Given the description of an element on the screen output the (x, y) to click on. 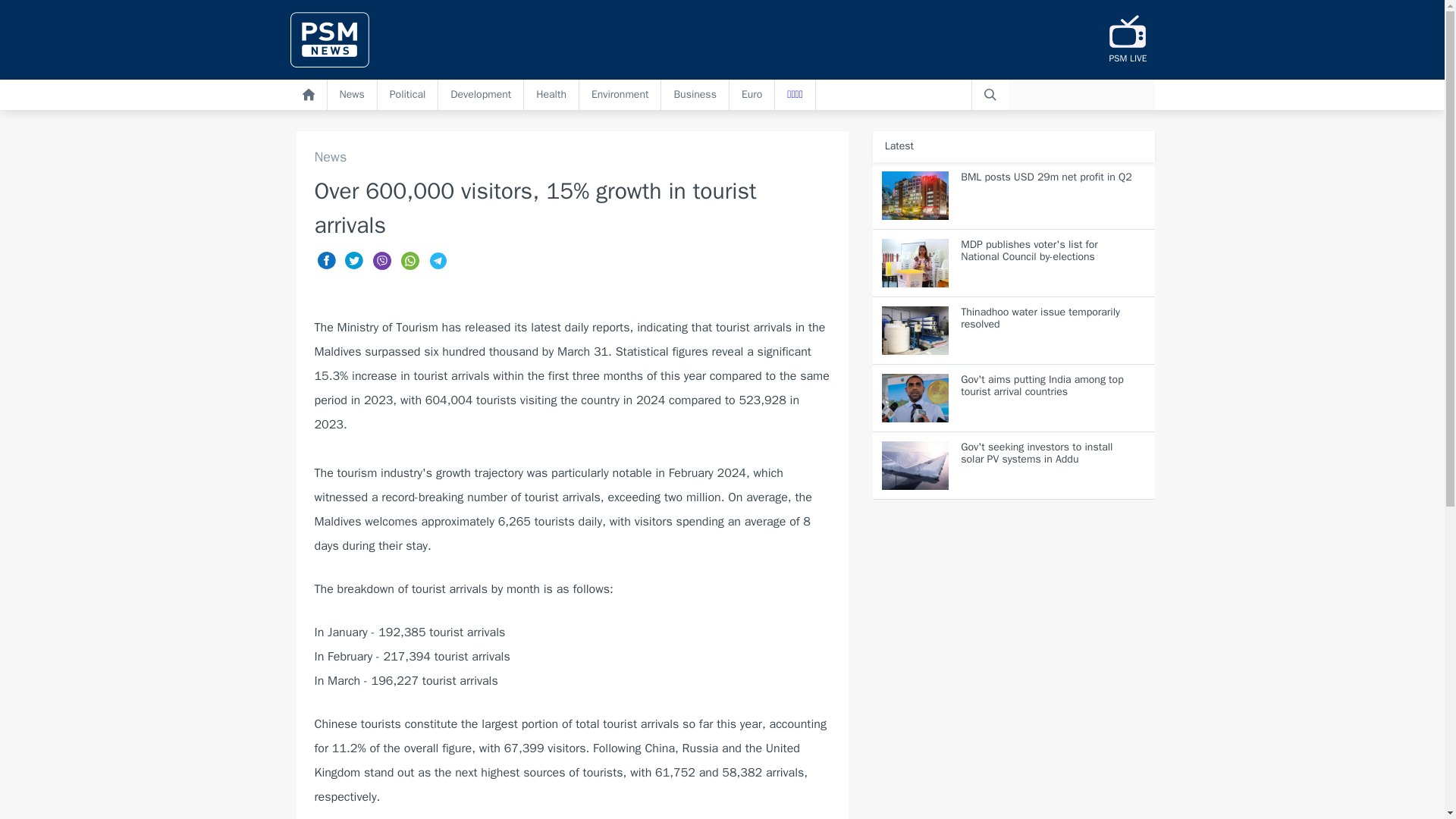
News (352, 94)
Gov't seeking investors to install solar PV systems in Addu (1013, 465)
Gov't aims putting India among top tourist arrival countries (1013, 398)
Thinadhoo water issue temporarily resolved (1013, 330)
Health (551, 94)
Submit (990, 94)
Business (695, 94)
Development (481, 94)
Political (408, 94)
BML posts USD 29m net profit in Q2 (1013, 196)
Euro (751, 94)
Latest (899, 146)
News (571, 157)
MDP publishes voter's list for National Council by-elections (1013, 263)
Environment (620, 94)
